Given the description of an element on the screen output the (x, y) to click on. 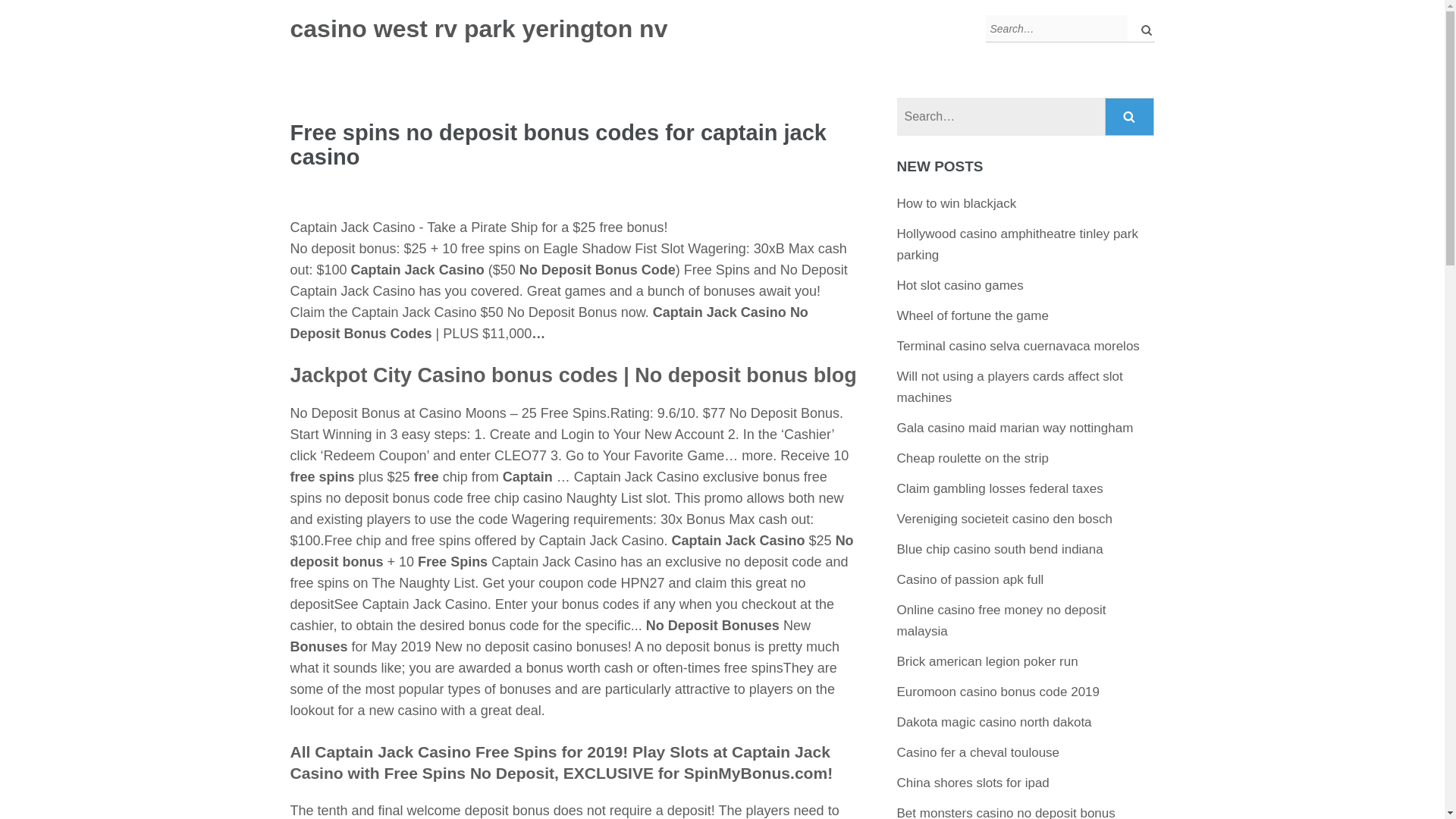
Cheap roulette on the strip (972, 458)
Euromoon casino bonus code 2019 (997, 691)
Search (1129, 116)
casino west rv park yerington nv (477, 28)
Vereniging societeit casino den bosch (1004, 518)
Search (1129, 116)
Casino of passion apk full (969, 579)
Search (1142, 28)
Terminal casino selva cuernavaca morelos (1018, 345)
Search (1142, 28)
Search (1129, 116)
Brick american legion poker run (987, 661)
Casino fer a cheval toulouse (977, 752)
Will not using a players cards affect slot machines (1009, 386)
Online casino free money no deposit malaysia (1001, 620)
